Given the description of an element on the screen output the (x, y) to click on. 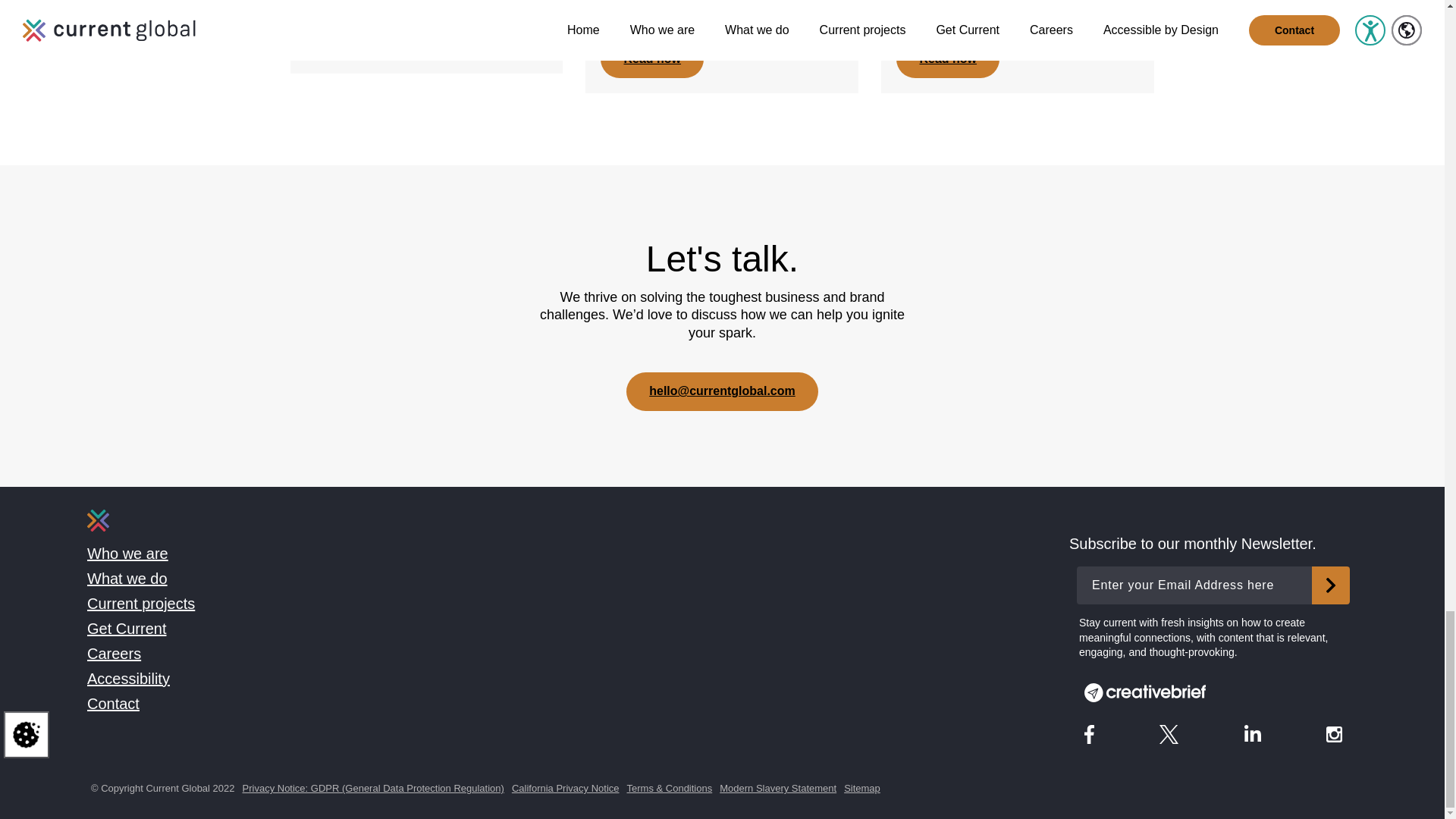
Read now (651, 58)
What we do (127, 578)
Get Current (126, 628)
Send (1330, 585)
Read now (355, 39)
Read now (947, 58)
Accessibility (128, 678)
Careers (114, 653)
Current projects (141, 603)
Who we are (127, 553)
